Given the description of an element on the screen output the (x, y) to click on. 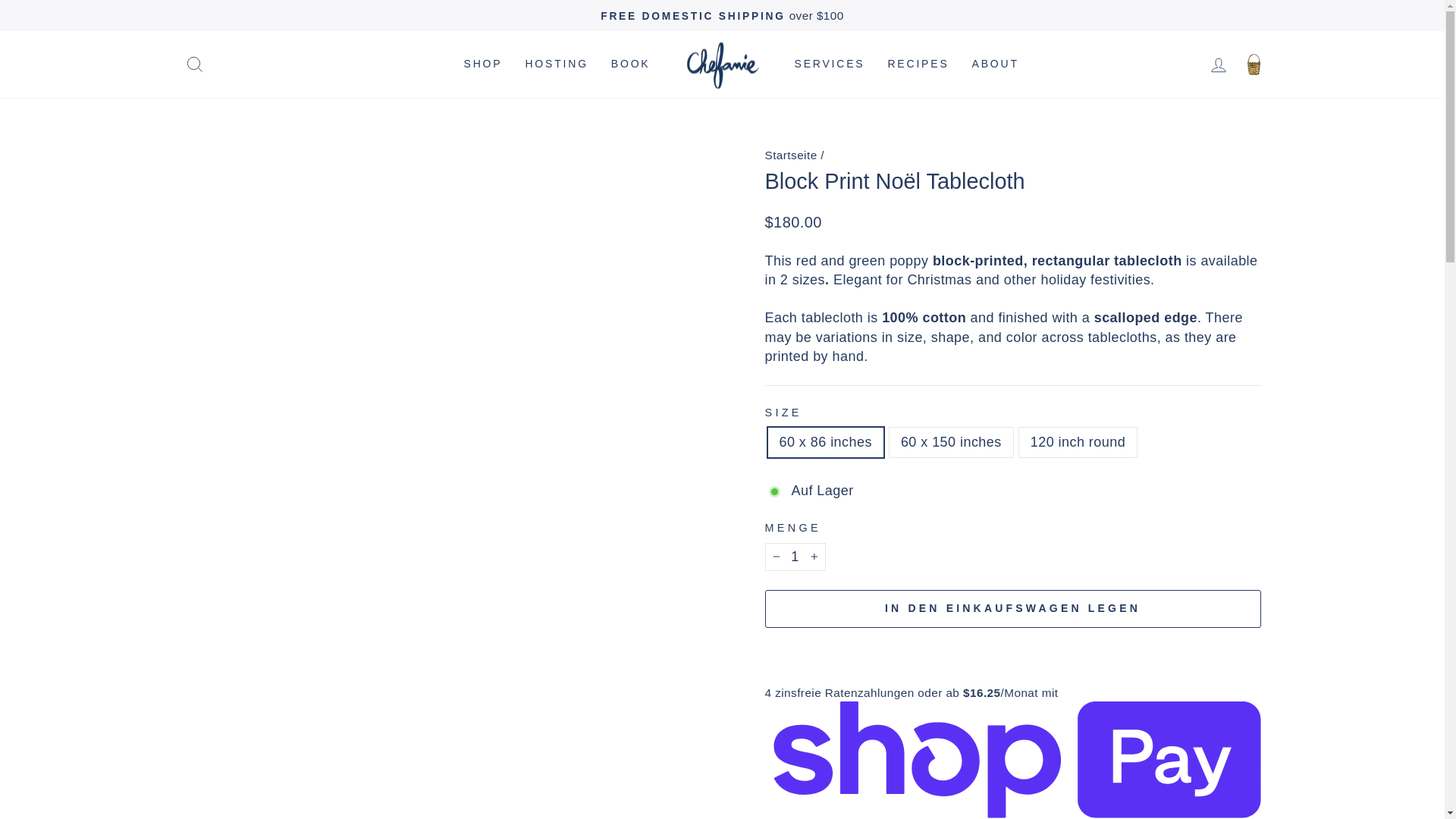
1 (794, 556)
